Given the description of an element on the screen output the (x, y) to click on. 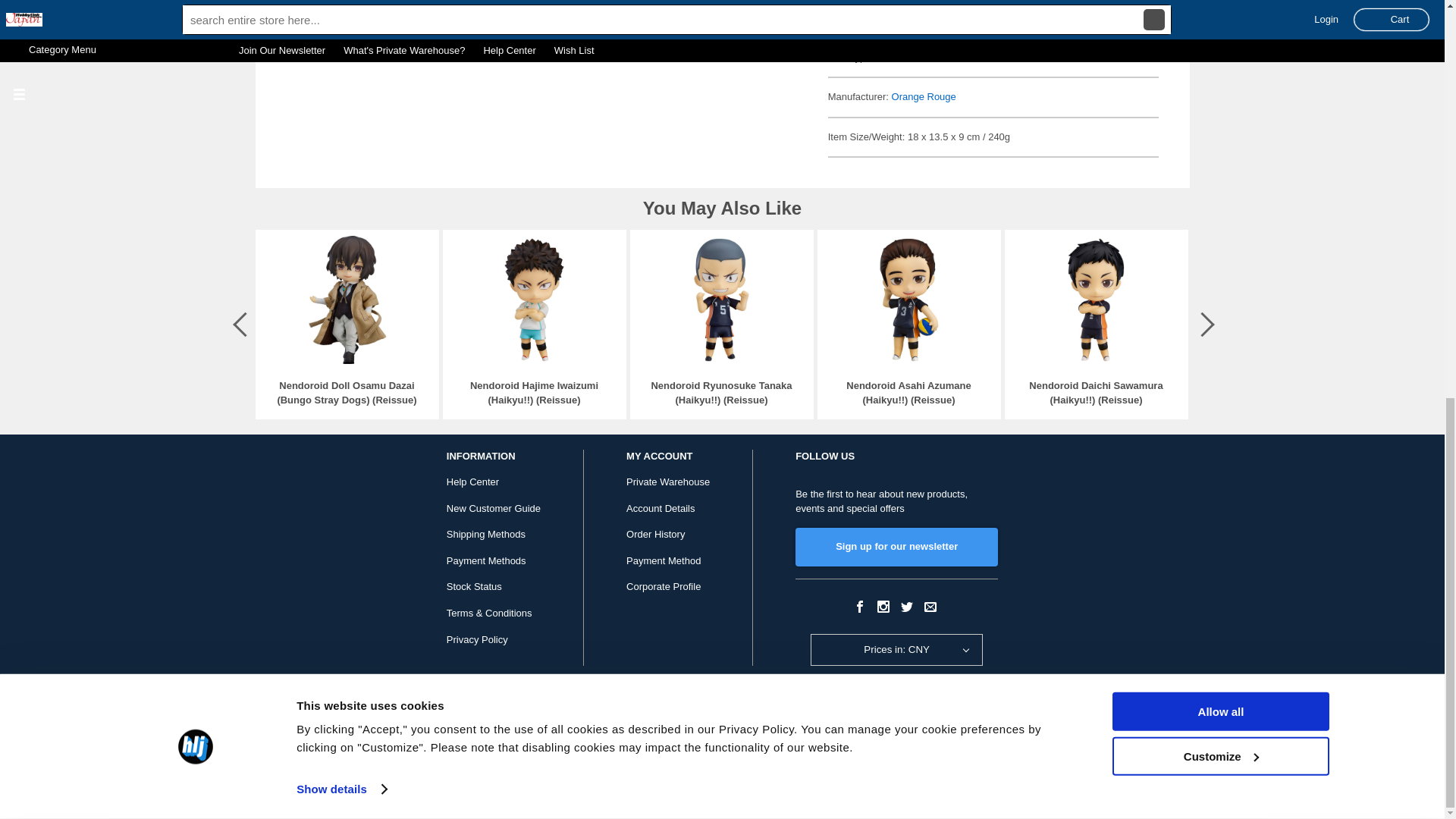
Show details (341, 15)
